Given the description of an element on the screen output the (x, y) to click on. 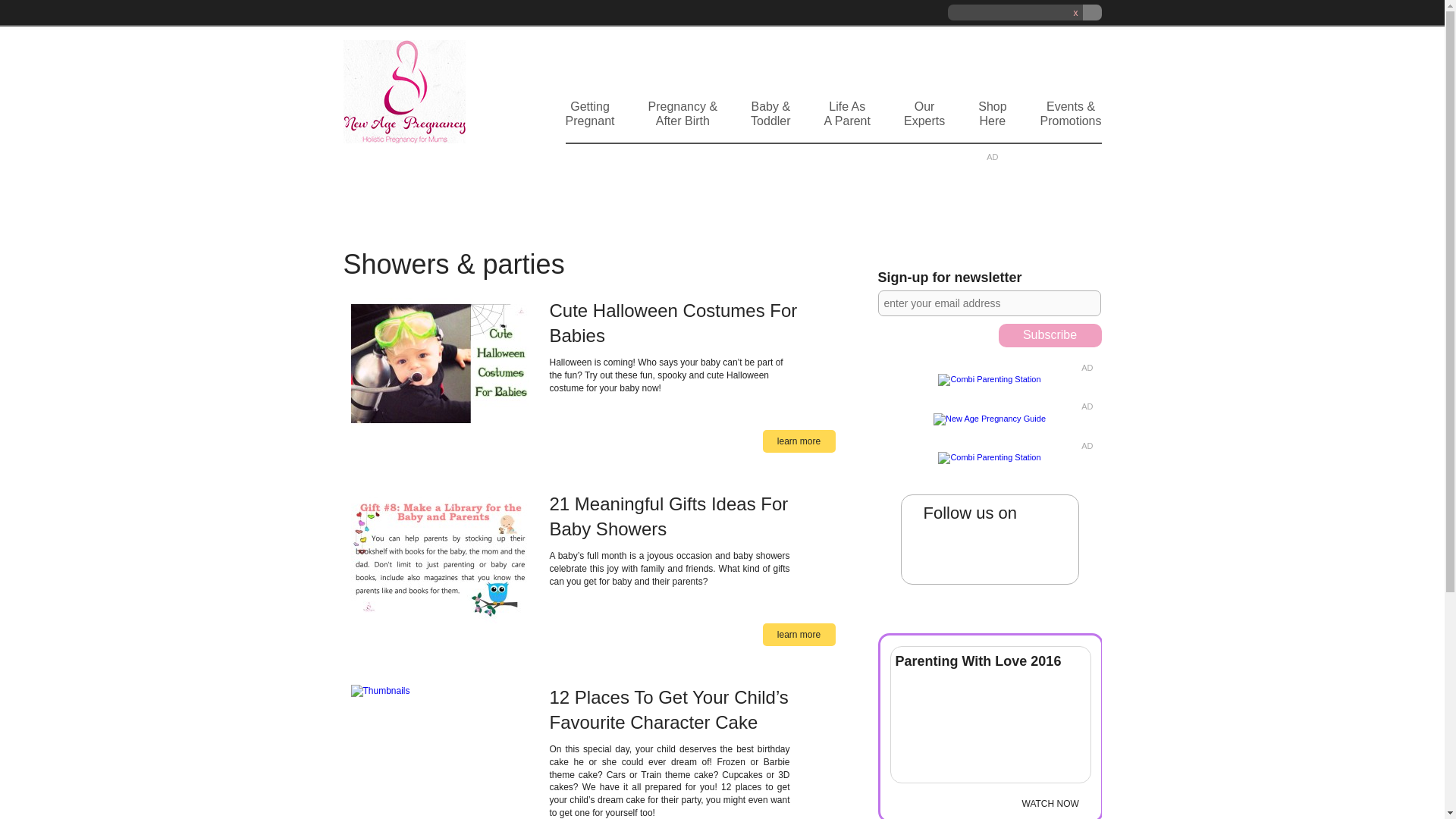
Search (847, 122)
Subscribe (924, 122)
Search (590, 122)
Search (1092, 12)
